Given the description of an element on the screen output the (x, y) to click on. 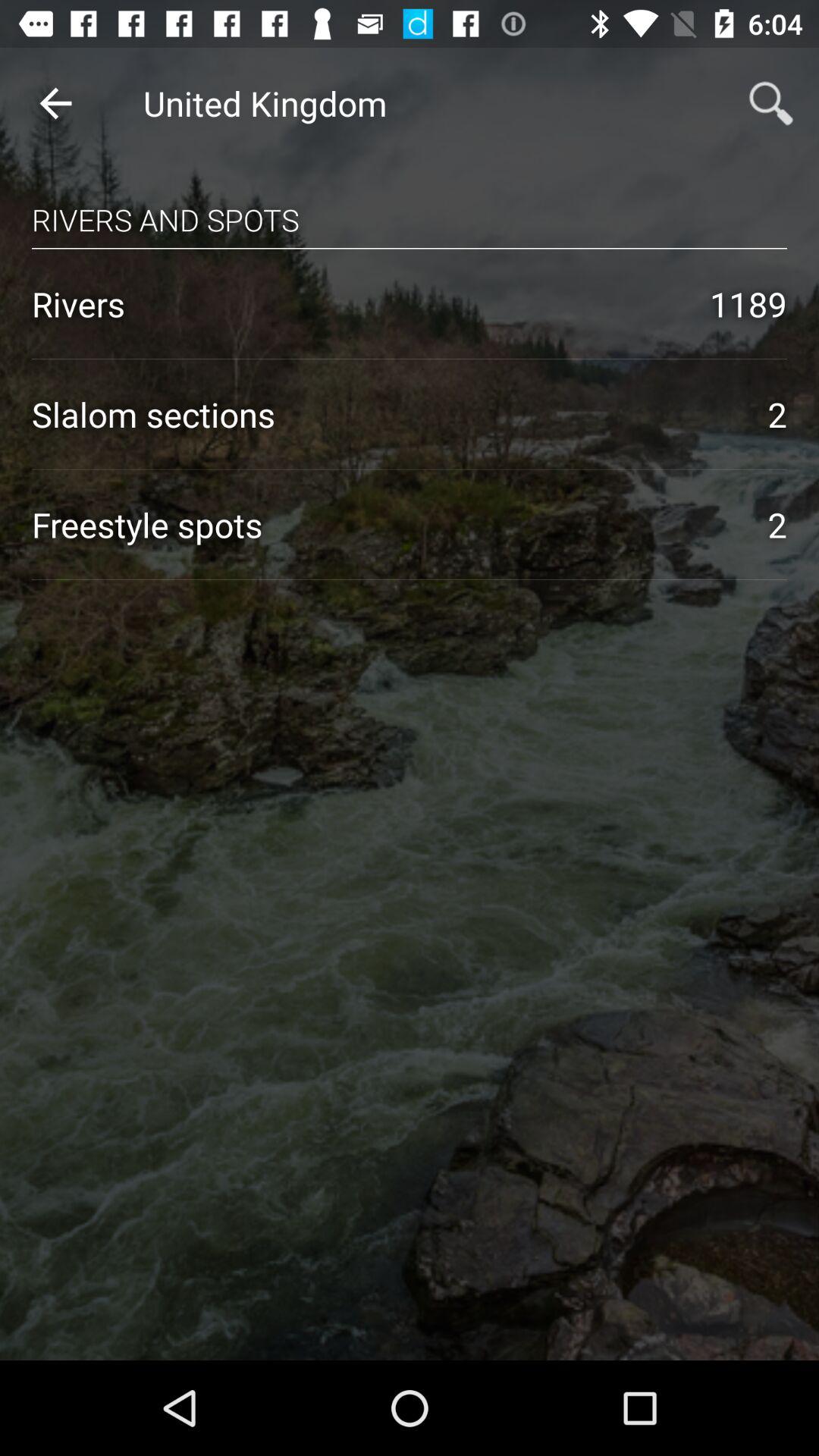
swipe to rivers and spots (409, 205)
